Given the description of an element on the screen output the (x, y) to click on. 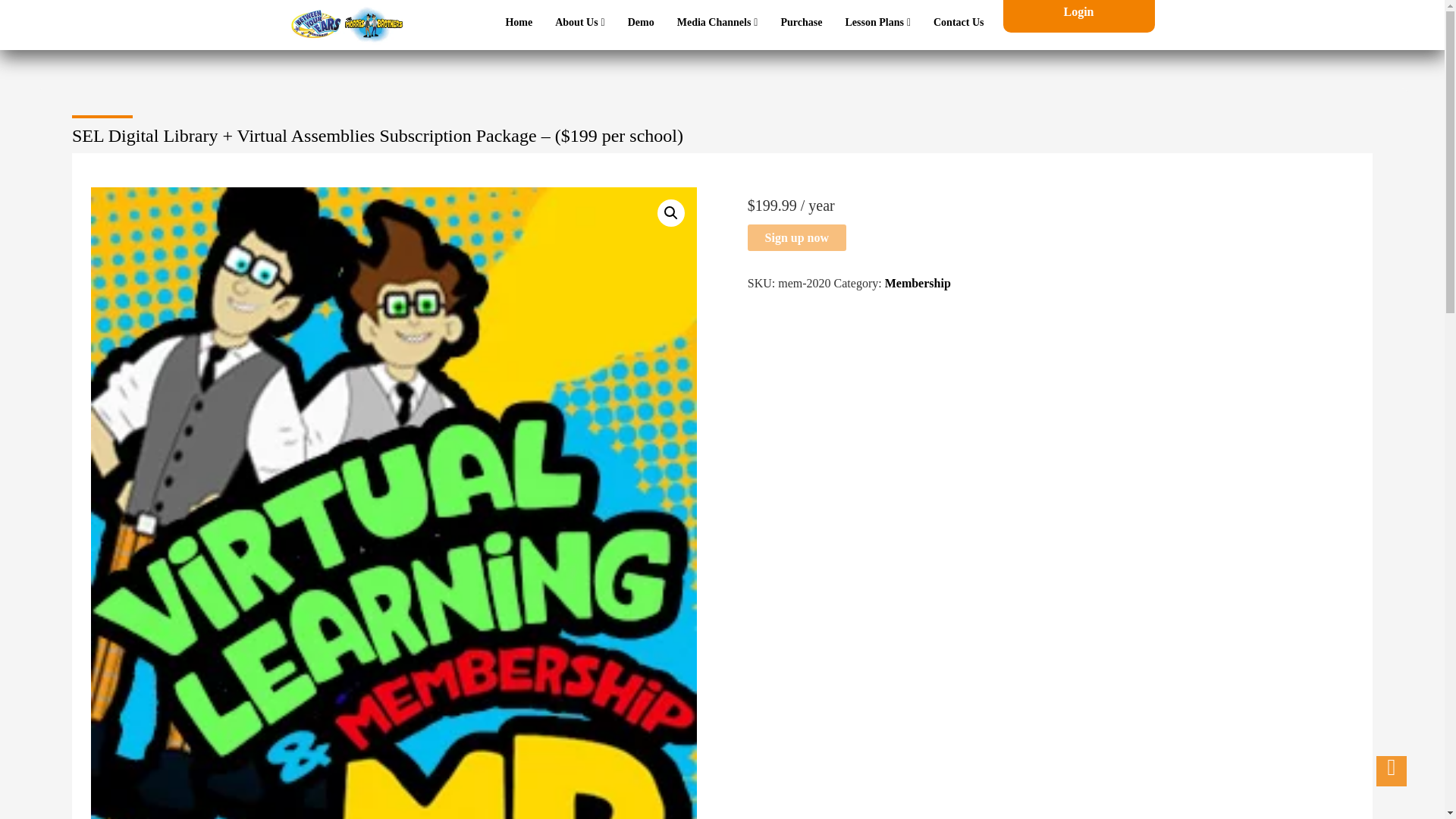
Lesson Plans (877, 22)
About Us (579, 22)
Contact Us (958, 22)
Membership (917, 282)
Between Your Ears Media (346, 32)
Home (518, 22)
Media Channels (717, 22)
Purchase (801, 22)
Sign up now (796, 237)
Login (1077, 11)
